Given the description of an element on the screen output the (x, y) to click on. 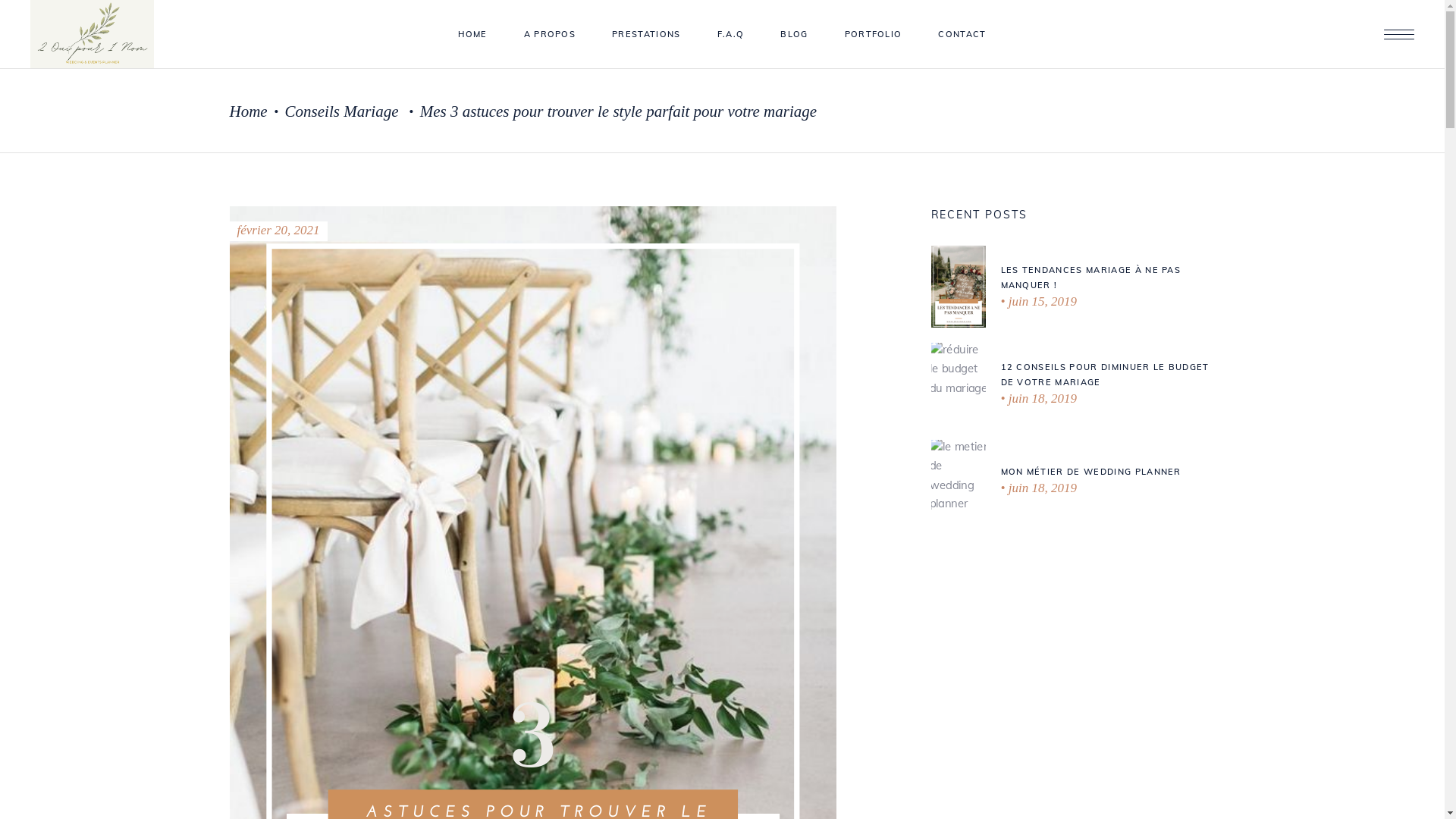
HOME Element type: text (472, 34)
PORTFOLIO Element type: text (873, 34)
A PROPOS Element type: text (549, 34)
PRESTATIONS Element type: text (646, 34)
CONTACT Element type: text (961, 34)
Conseils Mariage Element type: text (341, 111)
12 CONSEILS POUR DIMINUER LE BUDGET DE VOTRE MARIAGE Element type: text (1105, 374)
BLOG Element type: text (793, 34)
12 Conseils pour diminuer le budget de votre mariage Element type: hover (958, 383)
juin 18, 2019 Element type: text (1038, 487)
F.A.Q Element type: text (730, 34)
juin 15, 2019 Element type: text (1038, 301)
Home Element type: text (247, 111)
juin 18, 2019 Element type: text (1038, 398)
